Given the description of an element on the screen output the (x, y) to click on. 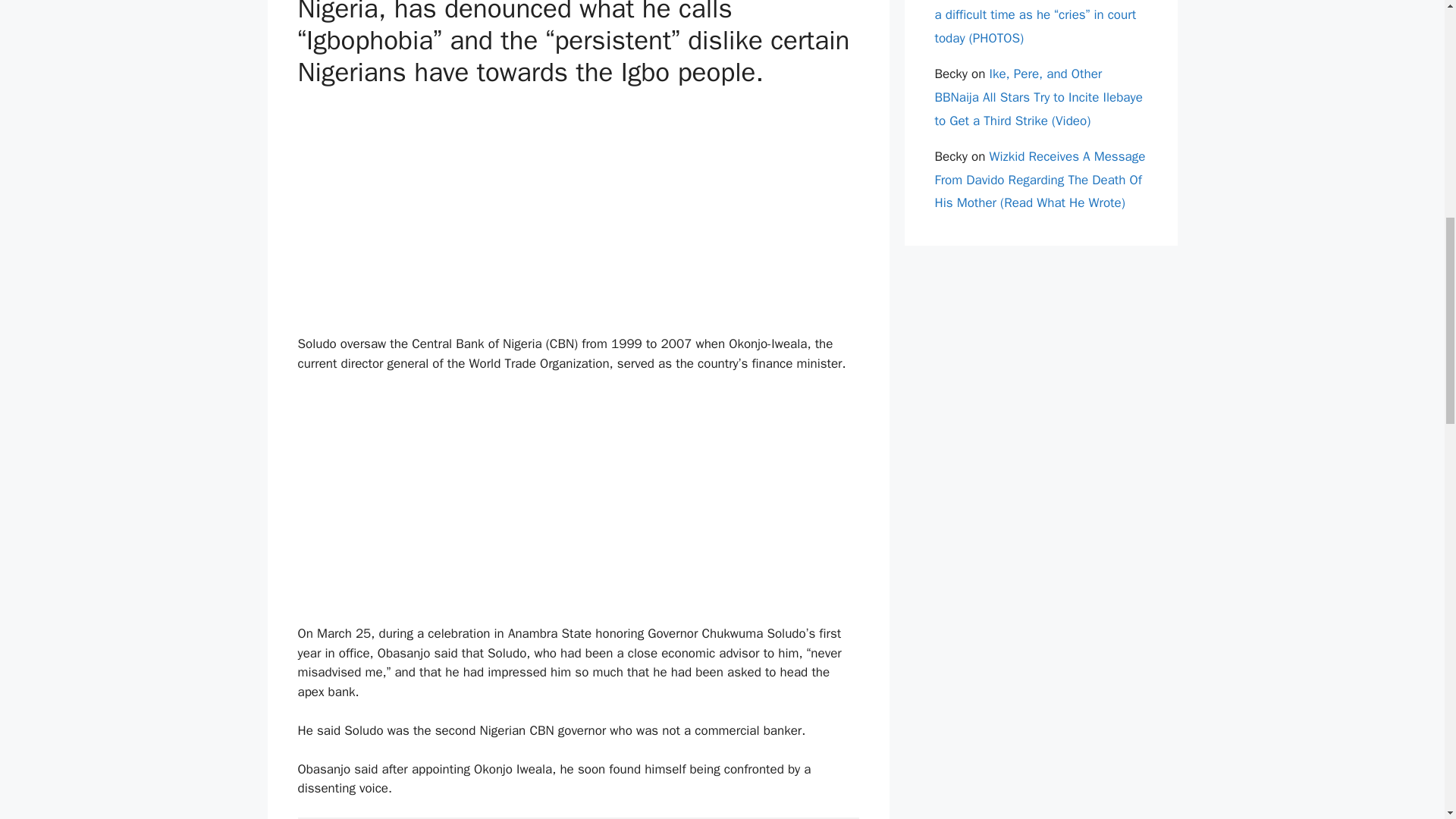
Bola Tinubu: From Senator To President (507, 444)
UTME Fraud: New Order From Gov. Soludo in Mmesoma's Case (649, 302)
News (393, 540)
LatestNews (343, 558)
Biography of Uba Sani, the incoming governor of Kaduna (791, 295)
Latest News (344, 540)
UTME Fraud: New Order From Gov. Soludo in Mmesoma's Case (649, 295)
